Given the description of an element on the screen output the (x, y) to click on. 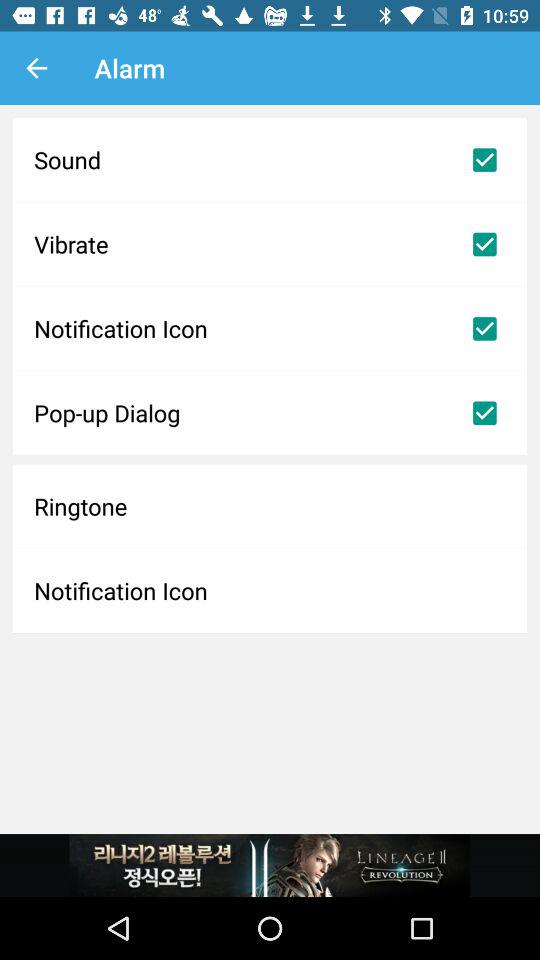
open the icon to the left of alarm icon (36, 68)
